Given the description of an element on the screen output the (x, y) to click on. 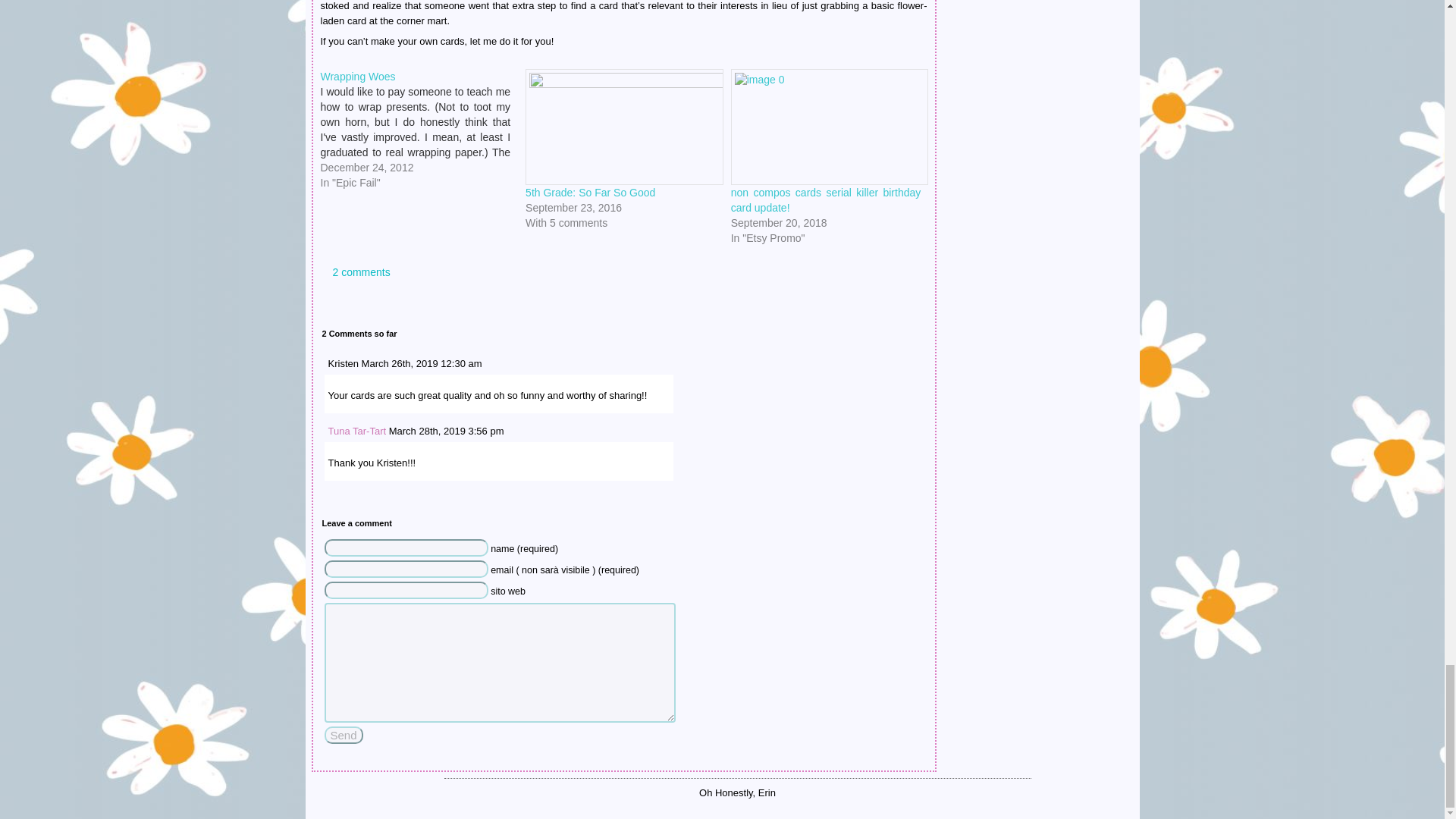
Wrapping Woes (357, 76)
2 comments (355, 272)
non compos cards serial killer birthday card update! (825, 199)
Send (343, 734)
Tuna Tar-Tart (356, 430)
Send (343, 734)
5th Grade: So Far So Good (590, 192)
